Given the description of an element on the screen output the (x, y) to click on. 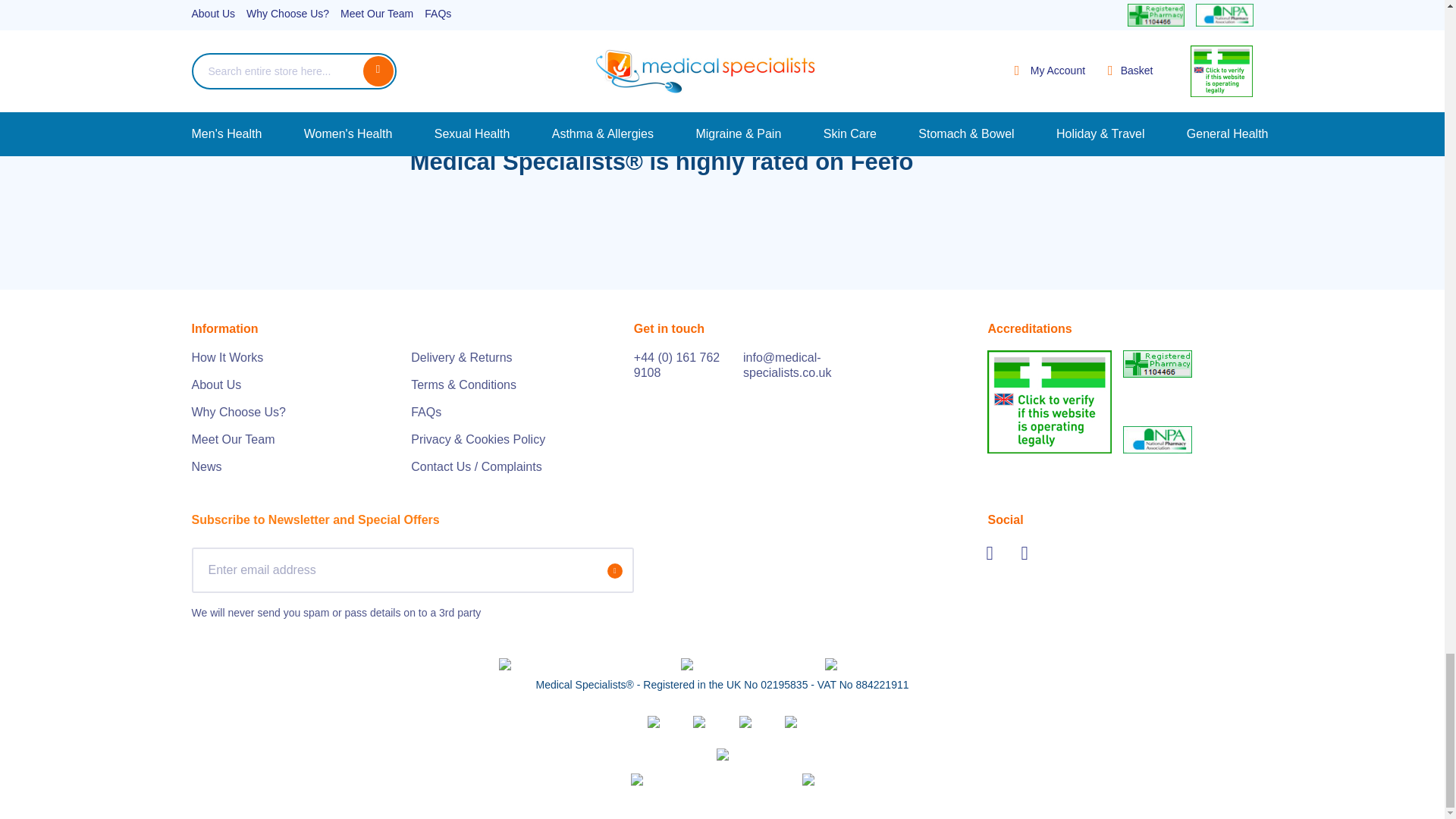
Subscribe (614, 570)
Facebook (1031, 552)
Twitter (997, 552)
